Given the description of an element on the screen output the (x, y) to click on. 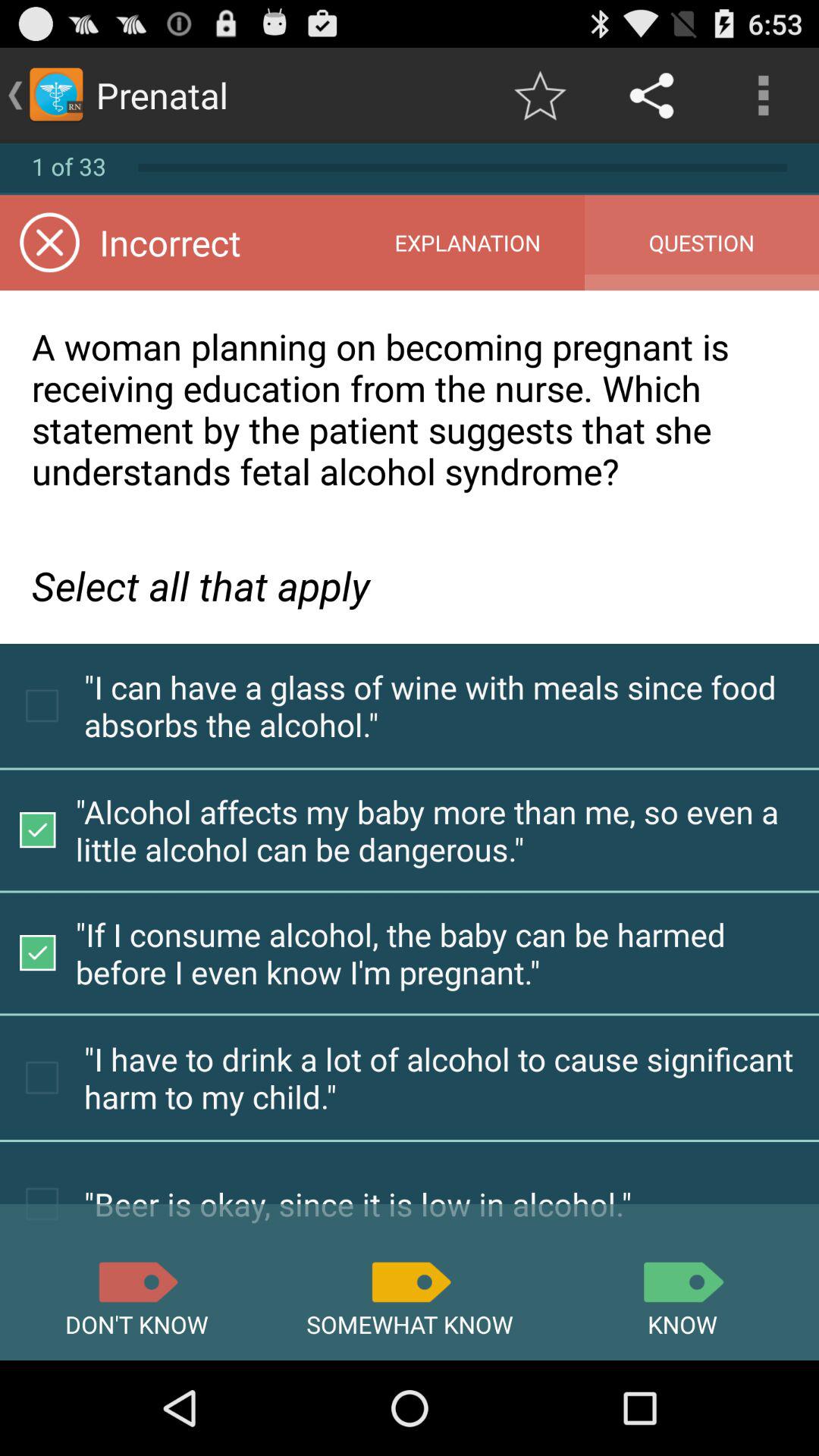
select somewhat know (409, 1281)
